Given the description of an element on the screen output the (x, y) to click on. 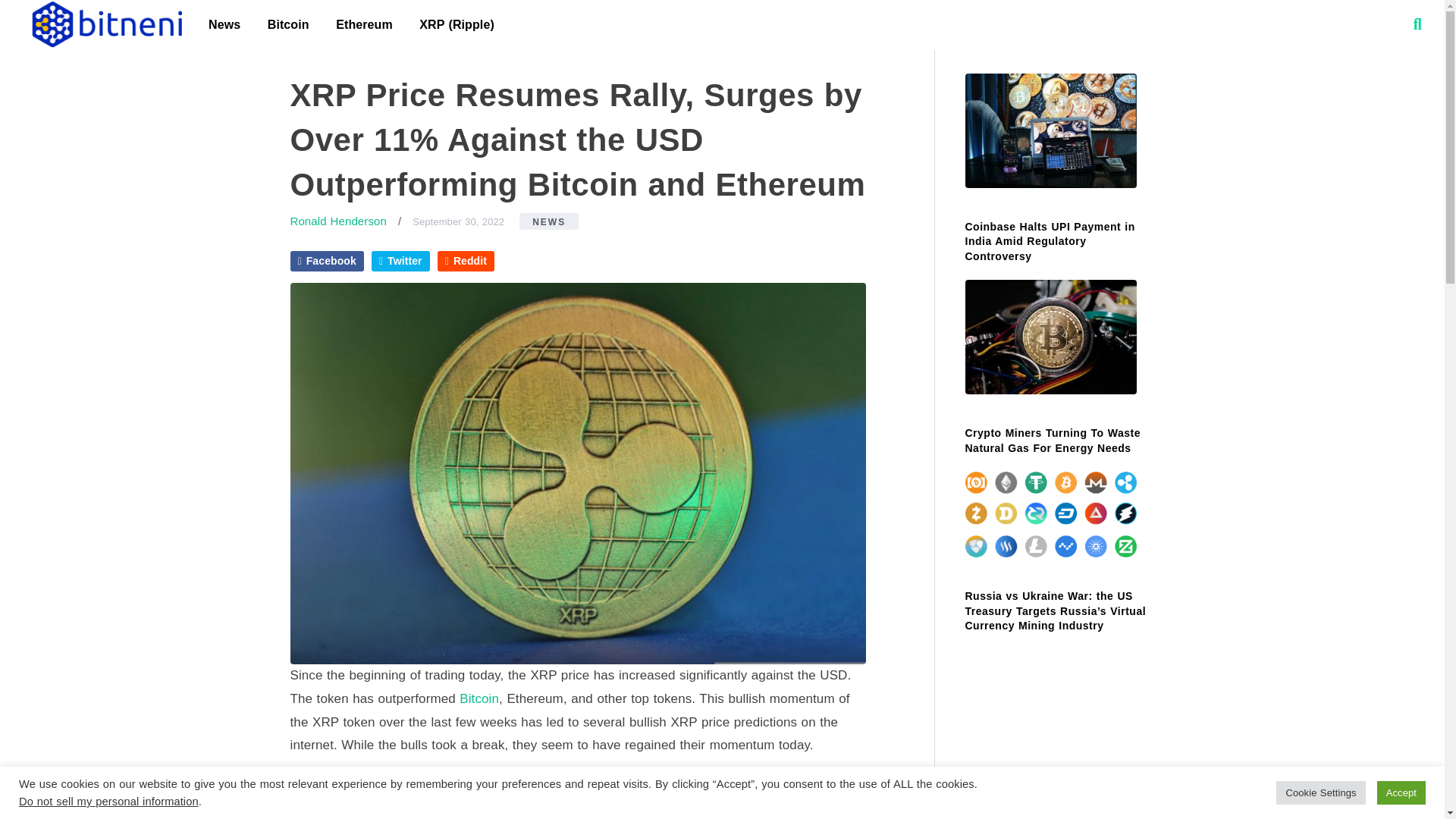
Reddit (466, 260)
NEWS (548, 221)
Crypto Miners Turning To Waste Natural Gas For Energy Needs (1051, 440)
Do not sell my personal information (108, 801)
Twitter (400, 260)
Facebook (325, 260)
BITNENI (105, 24)
Ronald Henderson (337, 220)
News (223, 24)
Bitcoin (479, 698)
Bitcoin (288, 24)
Ethereum (364, 24)
